Given the description of an element on the screen output the (x, y) to click on. 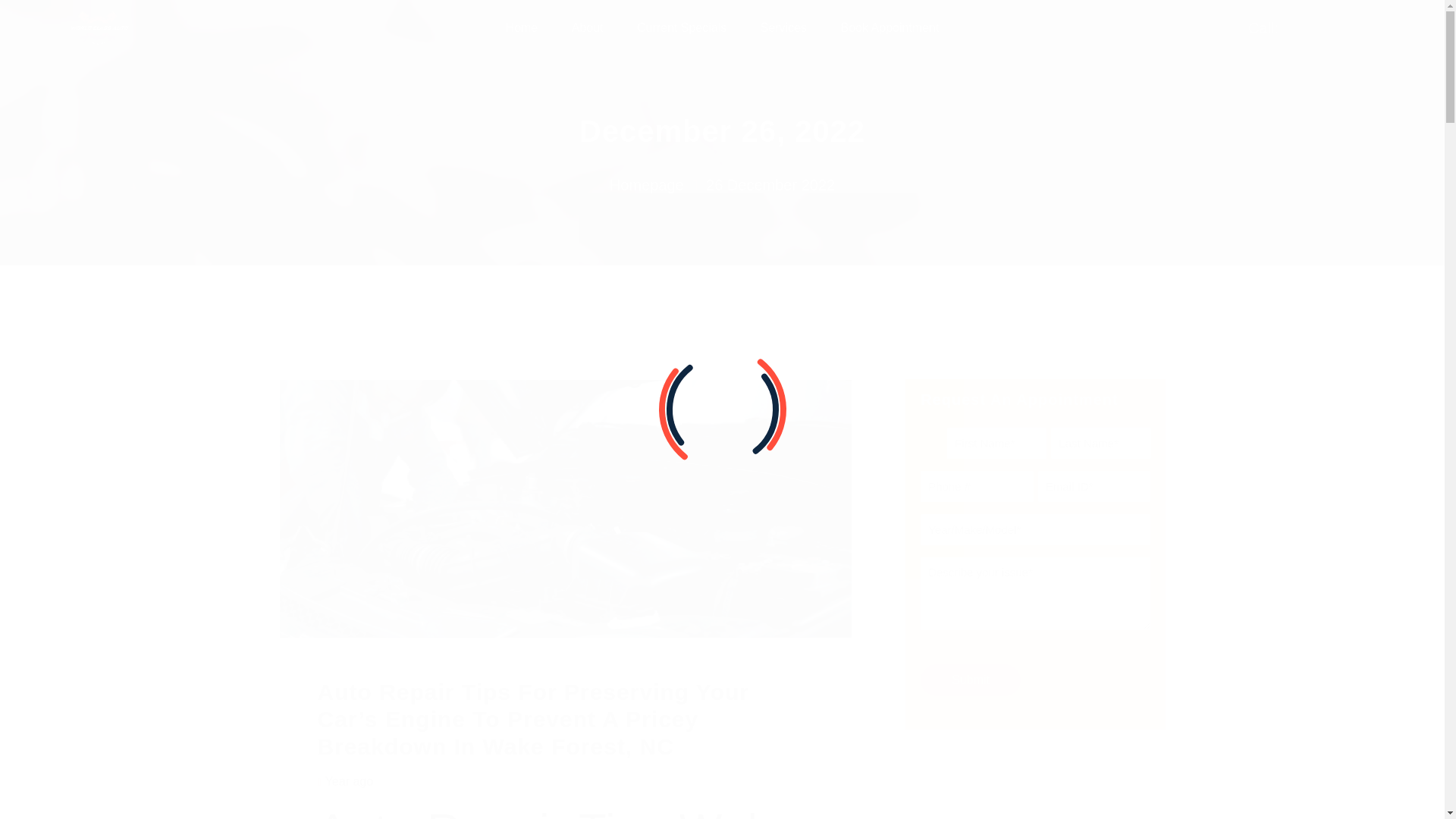
Homepage (647, 184)
Book Appointment (890, 28)
919 876-8011 (1328, 27)
Submit (970, 680)
Current Specials (681, 28)
Year ago (348, 780)
Submit (970, 680)
